Given the description of an element on the screen output the (x, y) to click on. 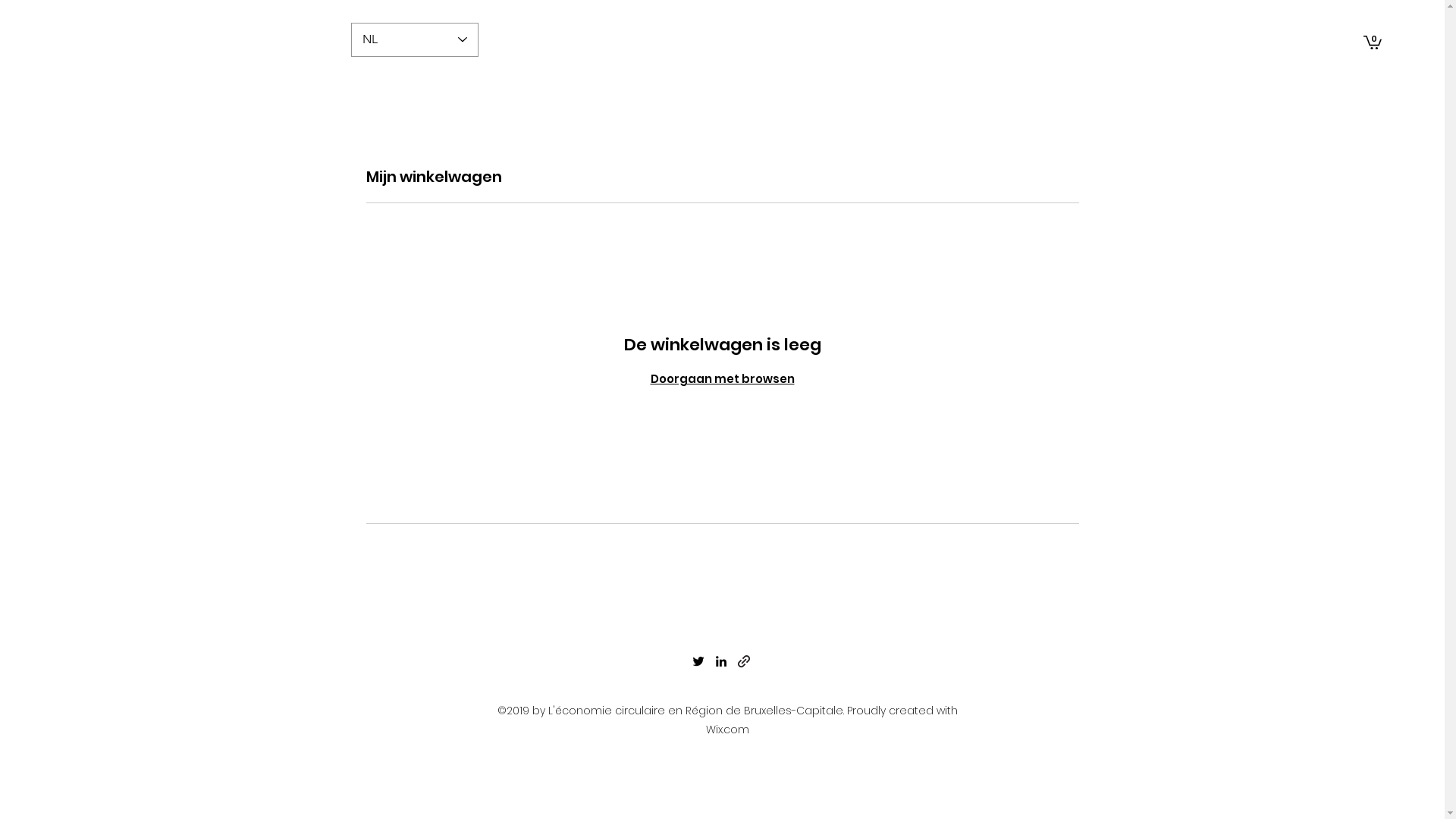
Doorgaan met browsen Element type: text (722, 378)
0 Element type: text (1372, 41)
